Given the description of an element on the screen output the (x, y) to click on. 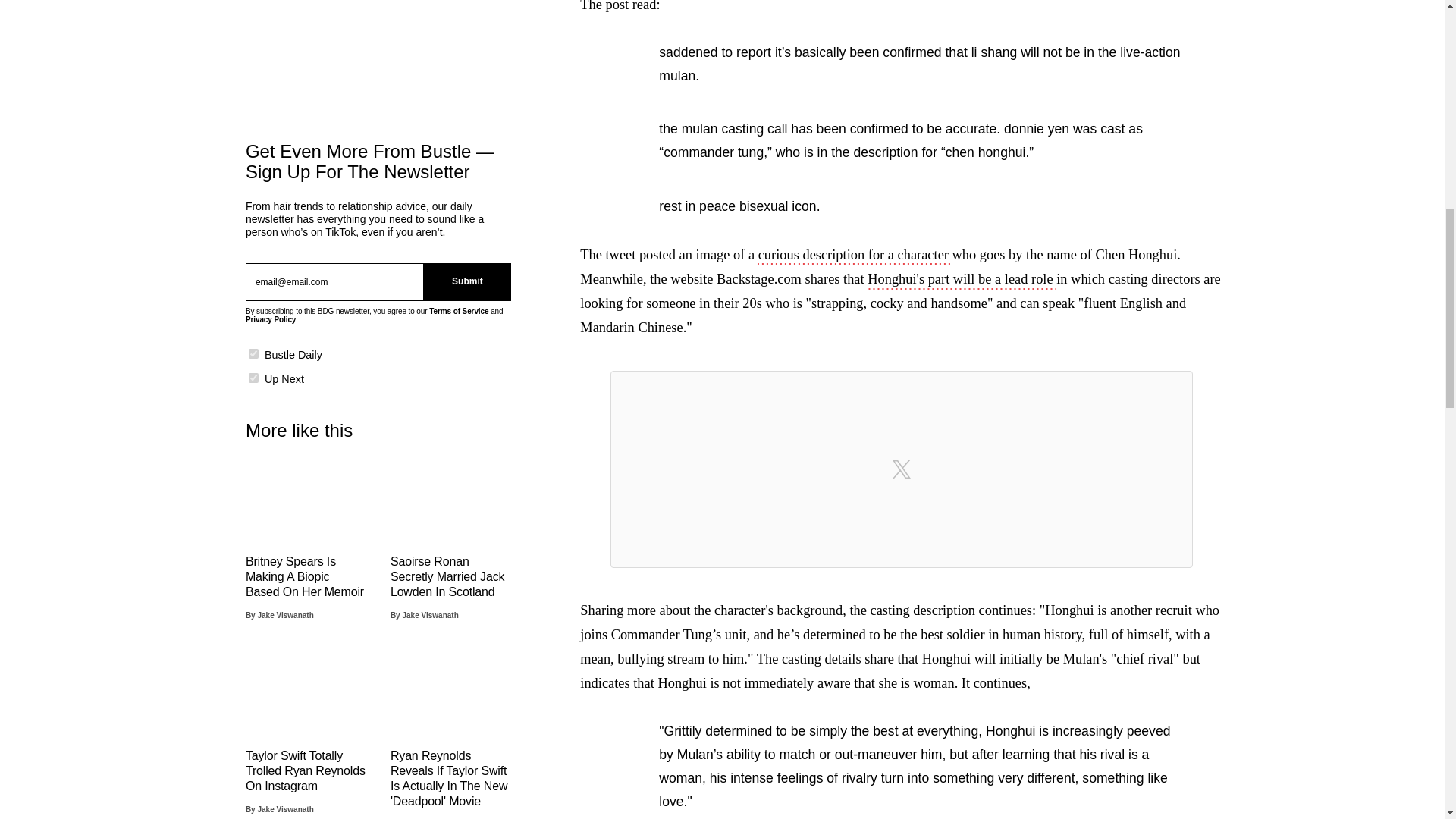
Terms of Service (458, 311)
Submit (467, 281)
Honghui's part will be a lead role (962, 280)
Privacy Policy (270, 319)
curious description for a character (855, 256)
